Given the description of an element on the screen output the (x, y) to click on. 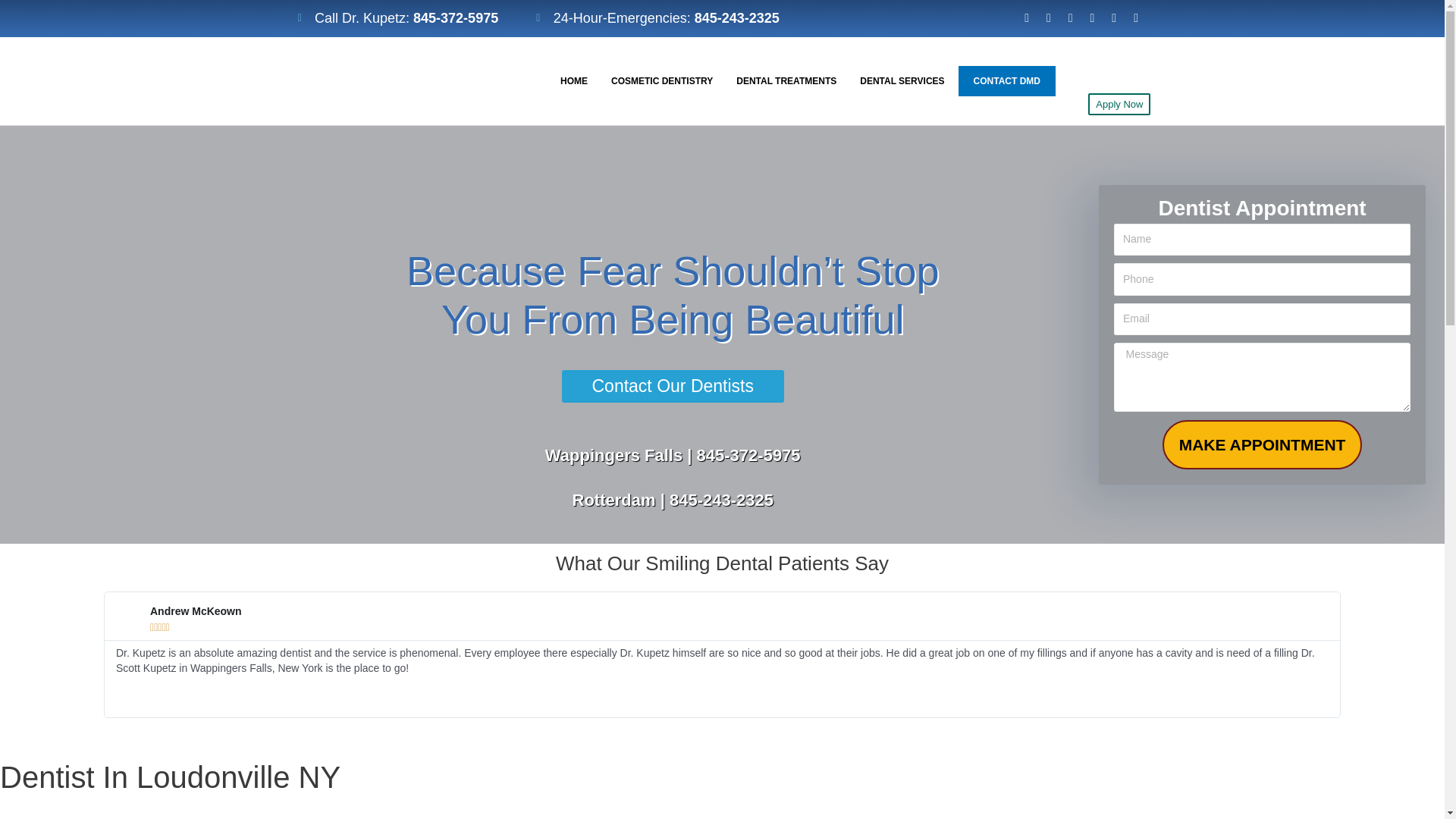
HOME (573, 81)
CONTACT DMD (1006, 81)
Twitter (1092, 18)
24-Hour-Emergencies: 845-243-2325 (656, 18)
DENTAL SERVICES (901, 81)
COSMETIC DENTISTRY (661, 81)
Call Dr. Kupetz: 845-372-5975 (397, 18)
Linkedin (1047, 18)
Yelp (1136, 18)
Youtube (1070, 18)
DENTAL TREATMENTS (785, 81)
Google (1114, 18)
Facebook-f (1027, 18)
